Given the description of an element on the screen output the (x, y) to click on. 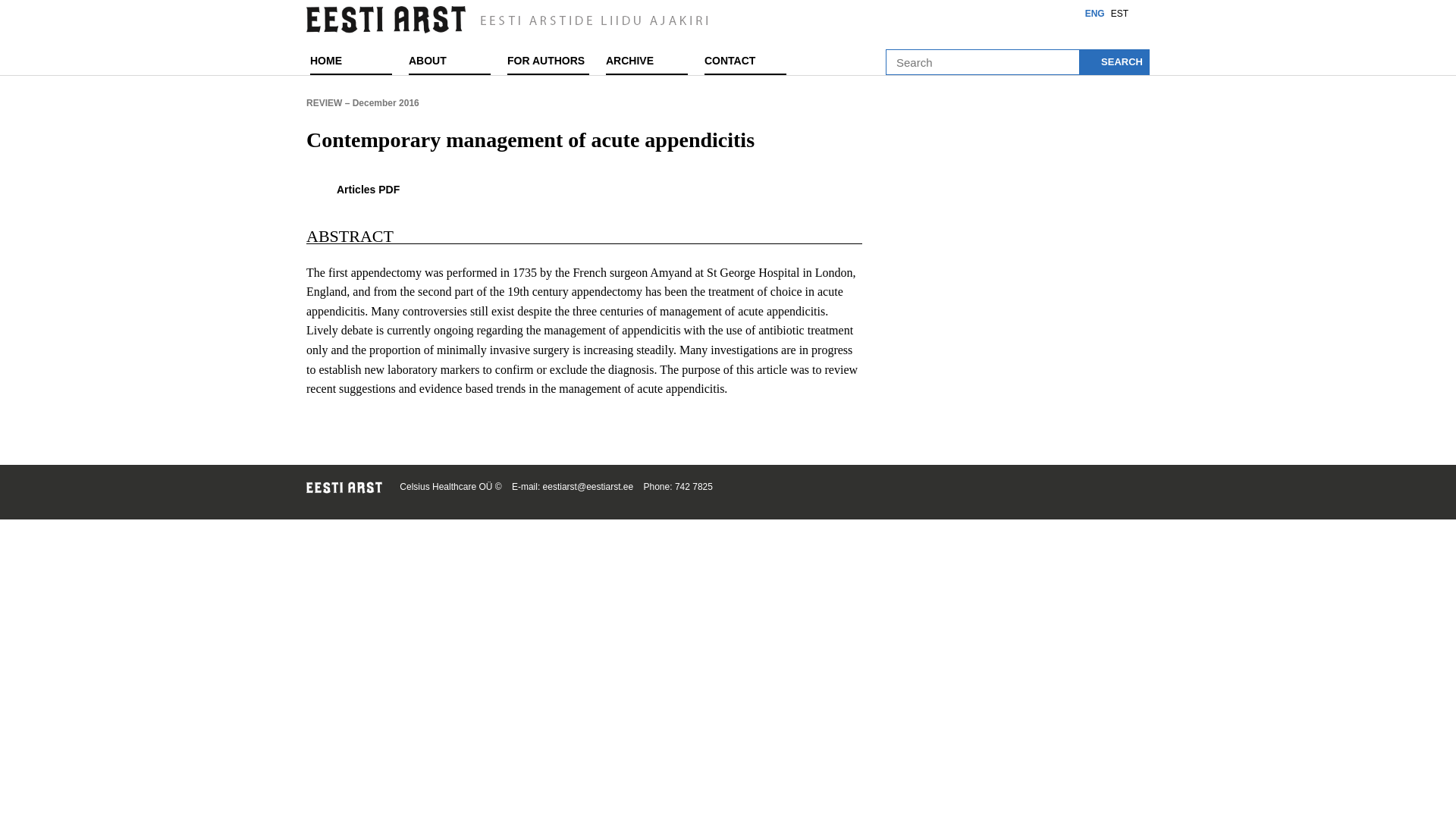
ENG (1094, 13)
Articles PDF (583, 189)
ARCHIVE (649, 61)
SEARCH (1114, 62)
EST (1119, 13)
FOR AUTHORS (550, 61)
ABOUT (452, 61)
HOME (353, 61)
CONTACT (747, 61)
